Given the description of an element on the screen output the (x, y) to click on. 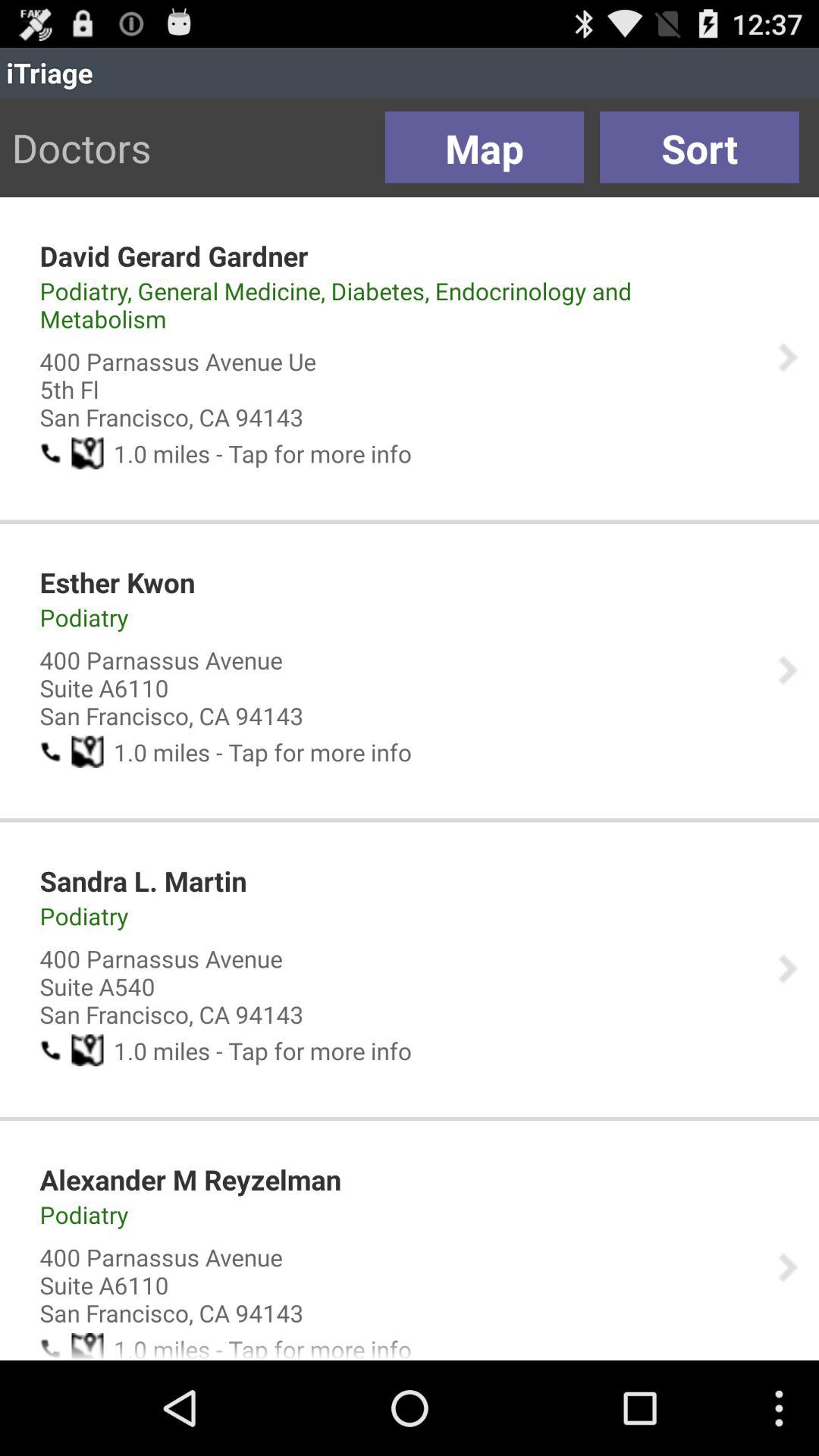
launch sort icon (699, 147)
